Given the description of an element on the screen output the (x, y) to click on. 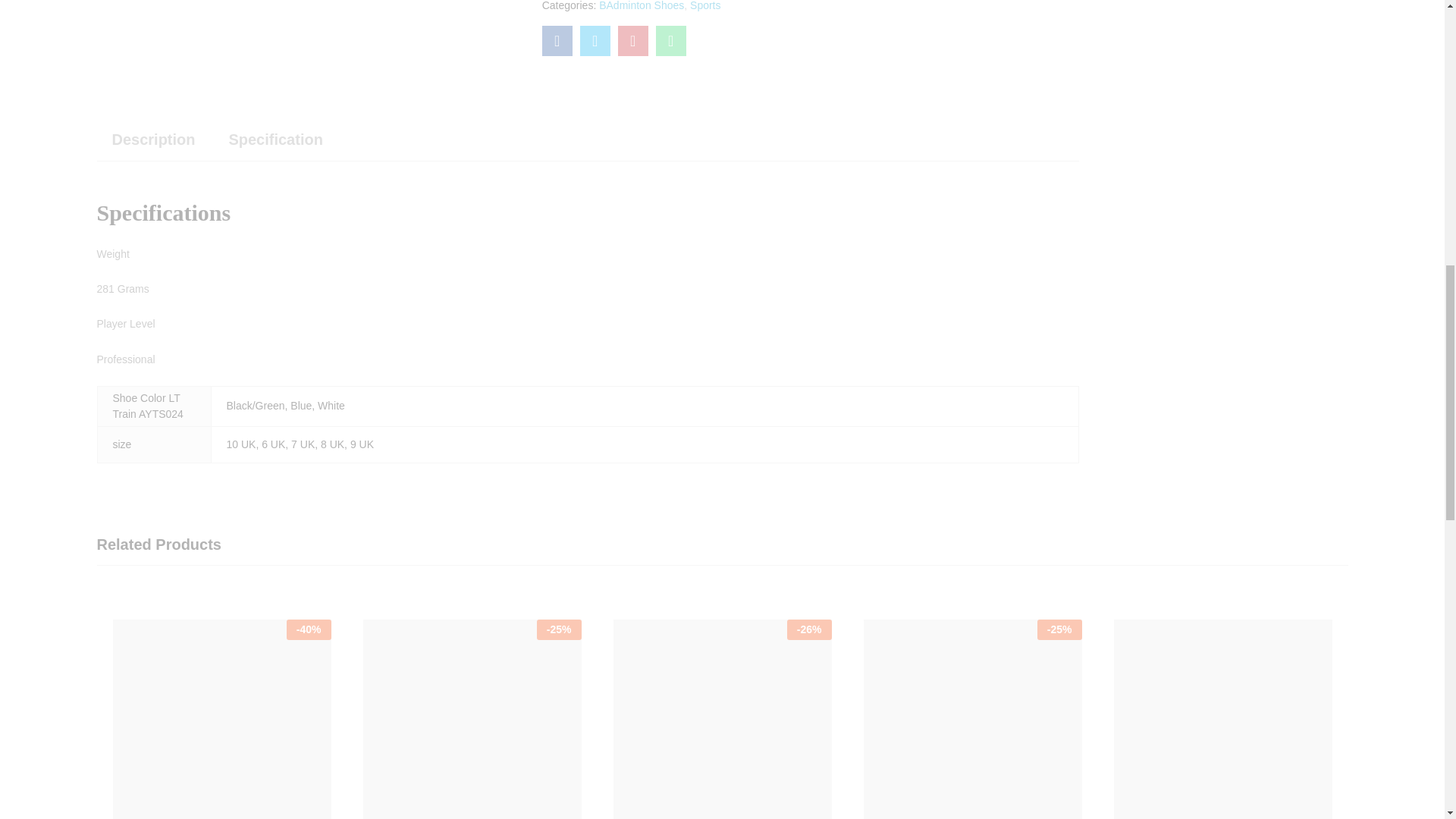
Li-Ning Badminton Shoes LT TRAIN- AYTS024 (556, 40)
